Given the description of an element on the screen output the (x, y) to click on. 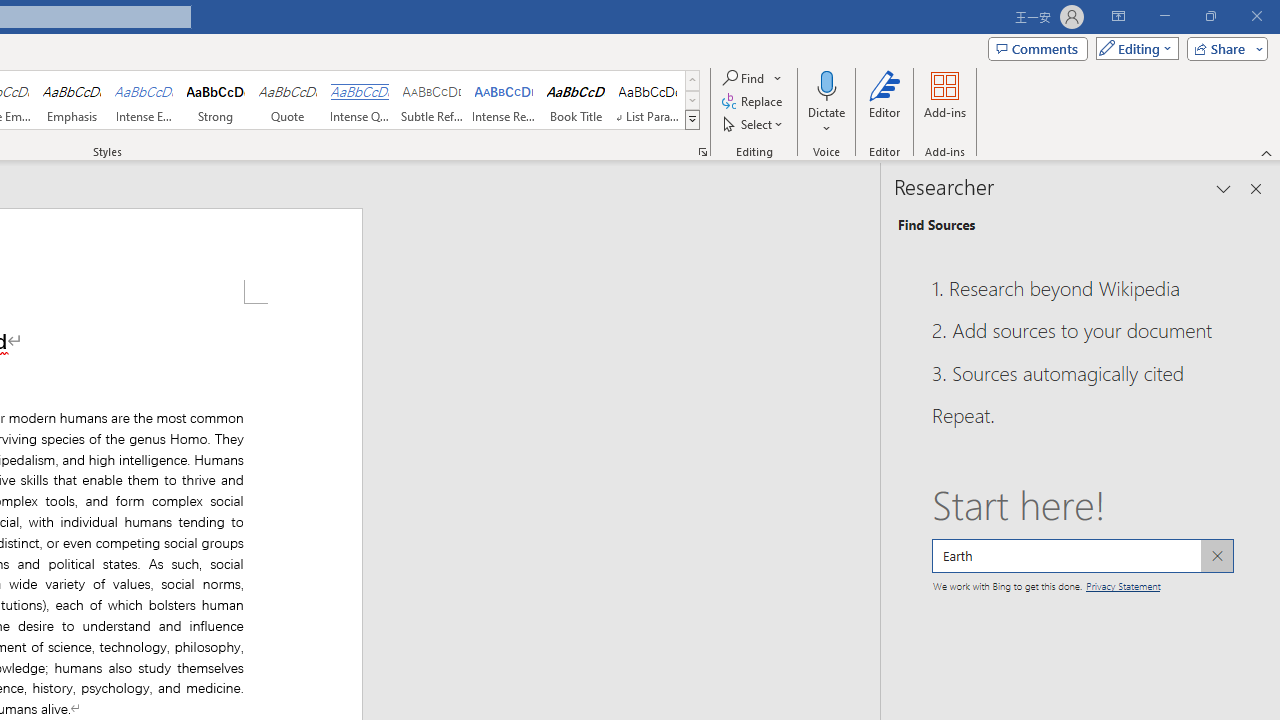
Privacy Statement (1122, 584)
Intense Quote (359, 100)
Emphasis (71, 100)
Find Sources (936, 224)
Intense Reference (504, 100)
